Given the description of an element on the screen output the (x, y) to click on. 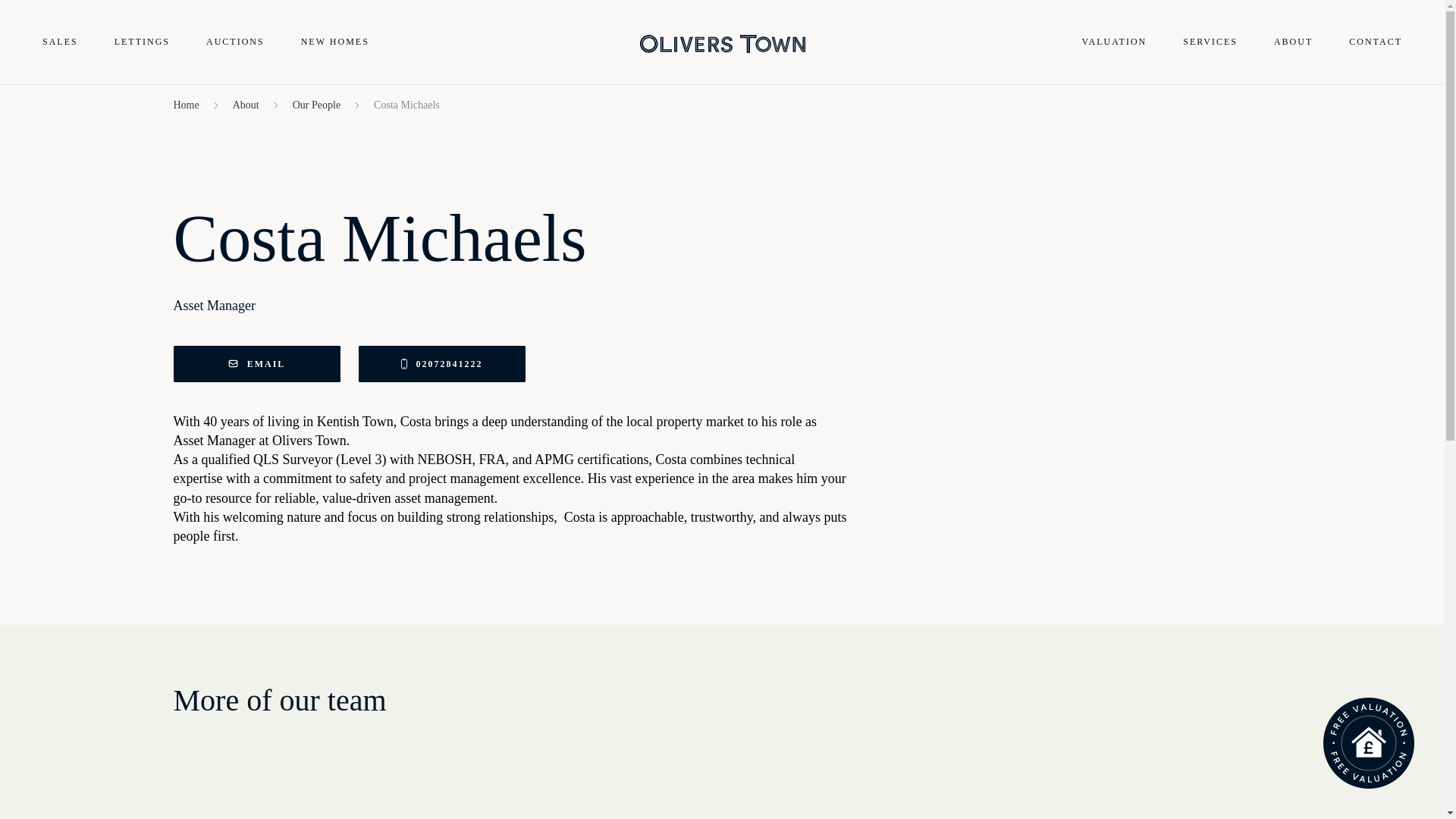
AUCTIONS (235, 42)
LETTINGS (142, 42)
SALES (60, 42)
